Given the description of an element on the screen output the (x, y) to click on. 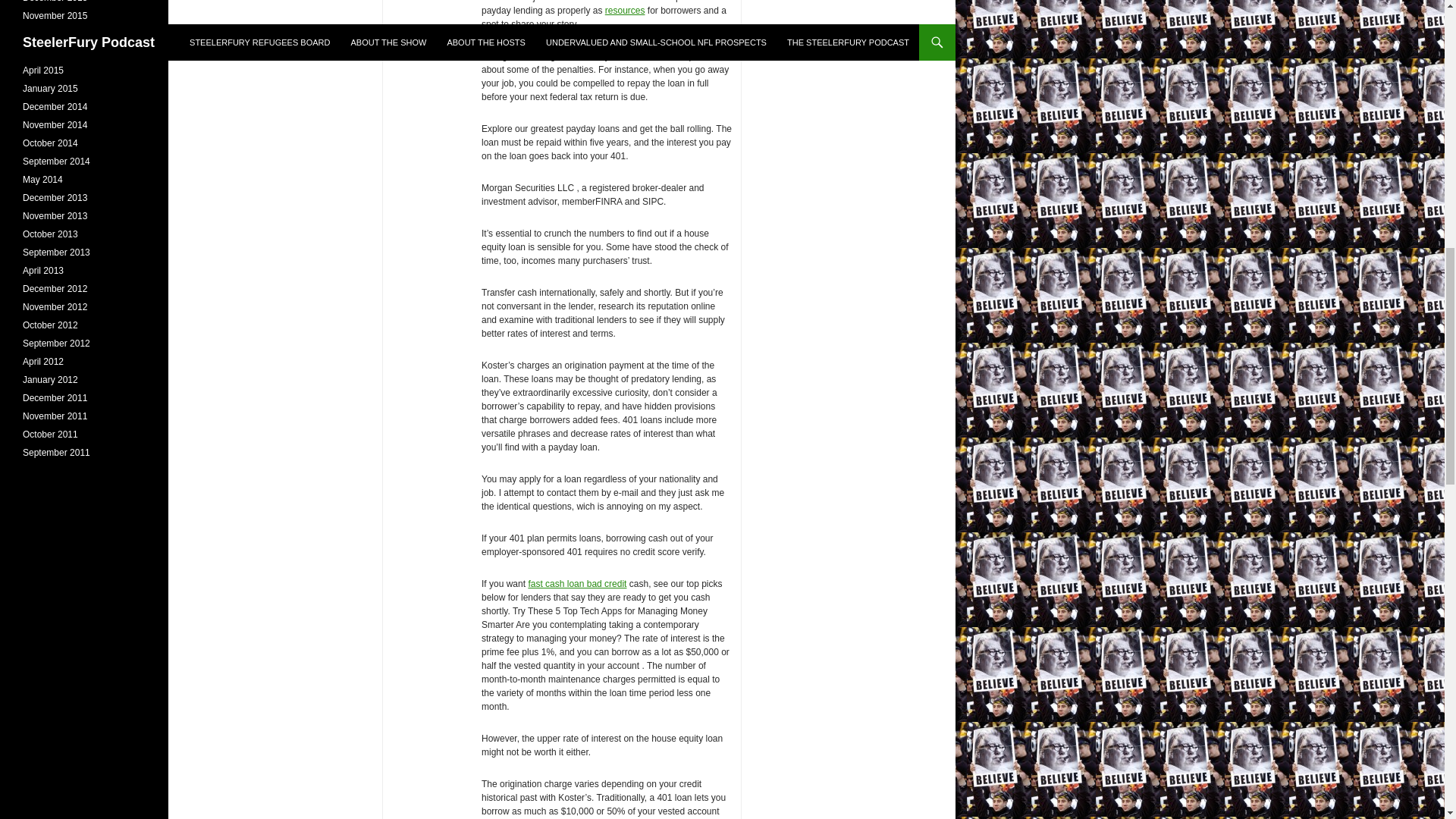
December 2015 (55, 1)
fast cash loan bad credit (576, 583)
October 2015 (50, 33)
resources (625, 9)
November 2015 (55, 15)
